Given the description of an element on the screen output the (x, y) to click on. 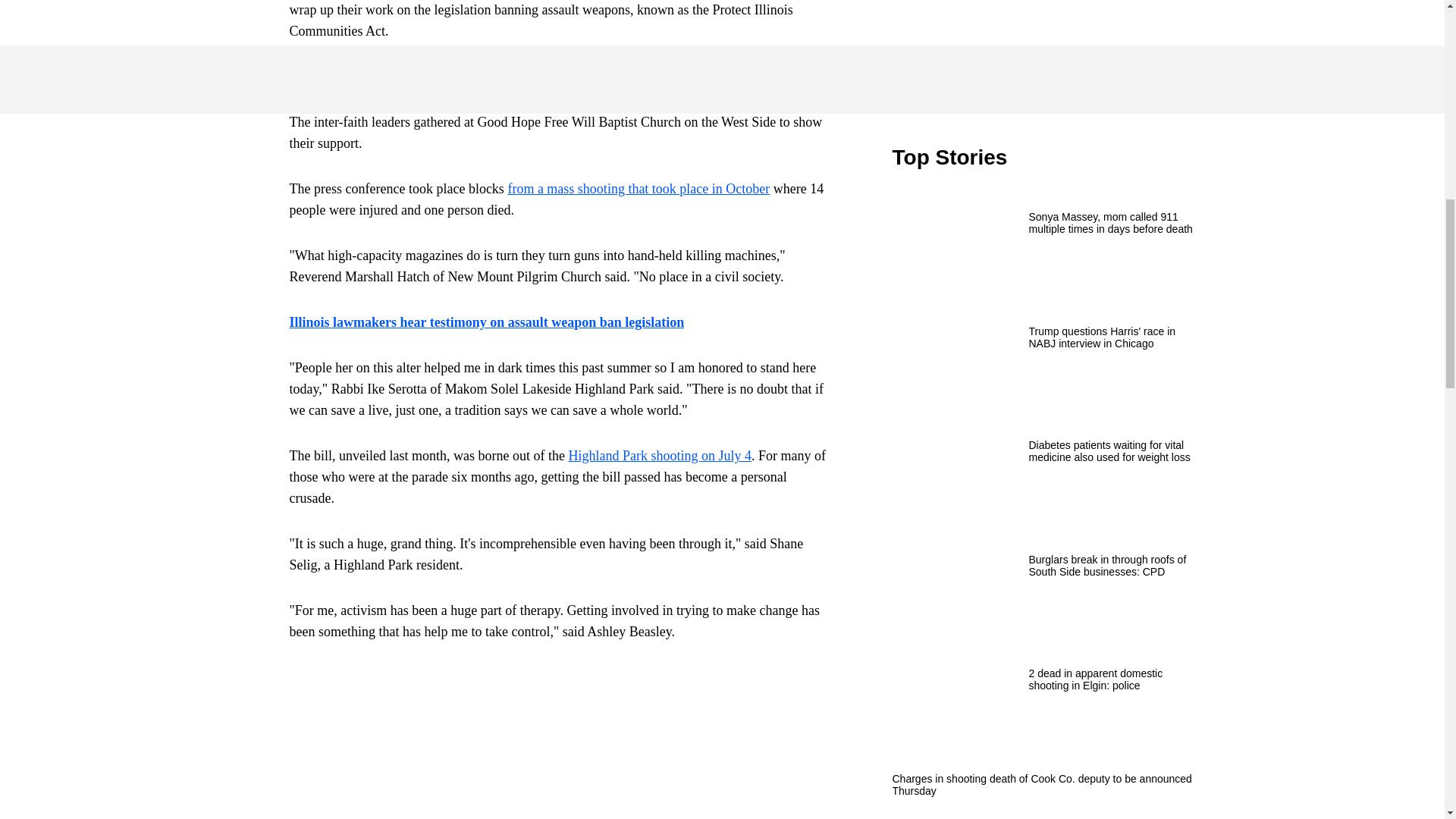
video.title (1043, 48)
